Given the description of an element on the screen output the (x, y) to click on. 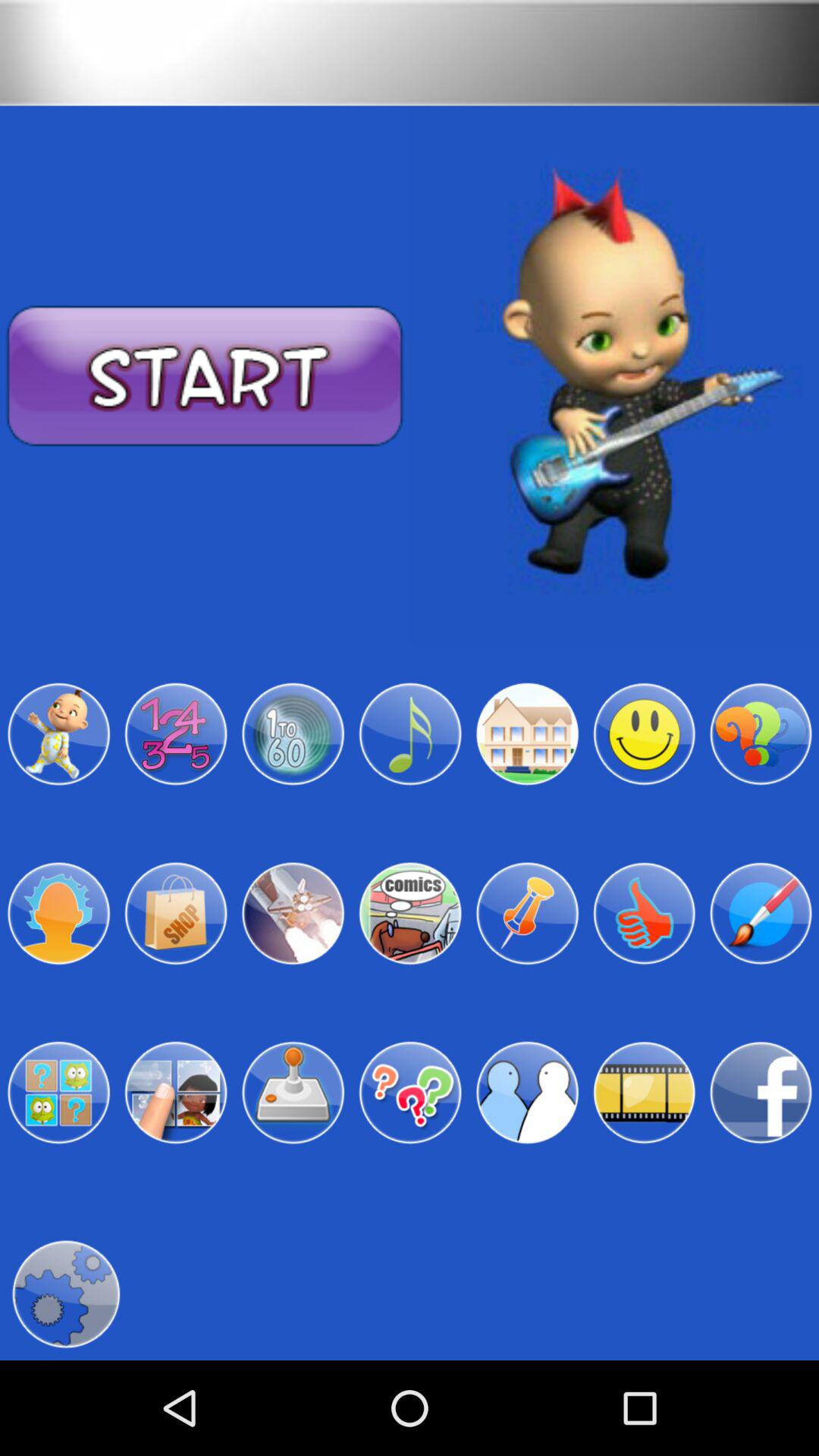
select the item (292, 734)
